Given the description of an element on the screen output the (x, y) to click on. 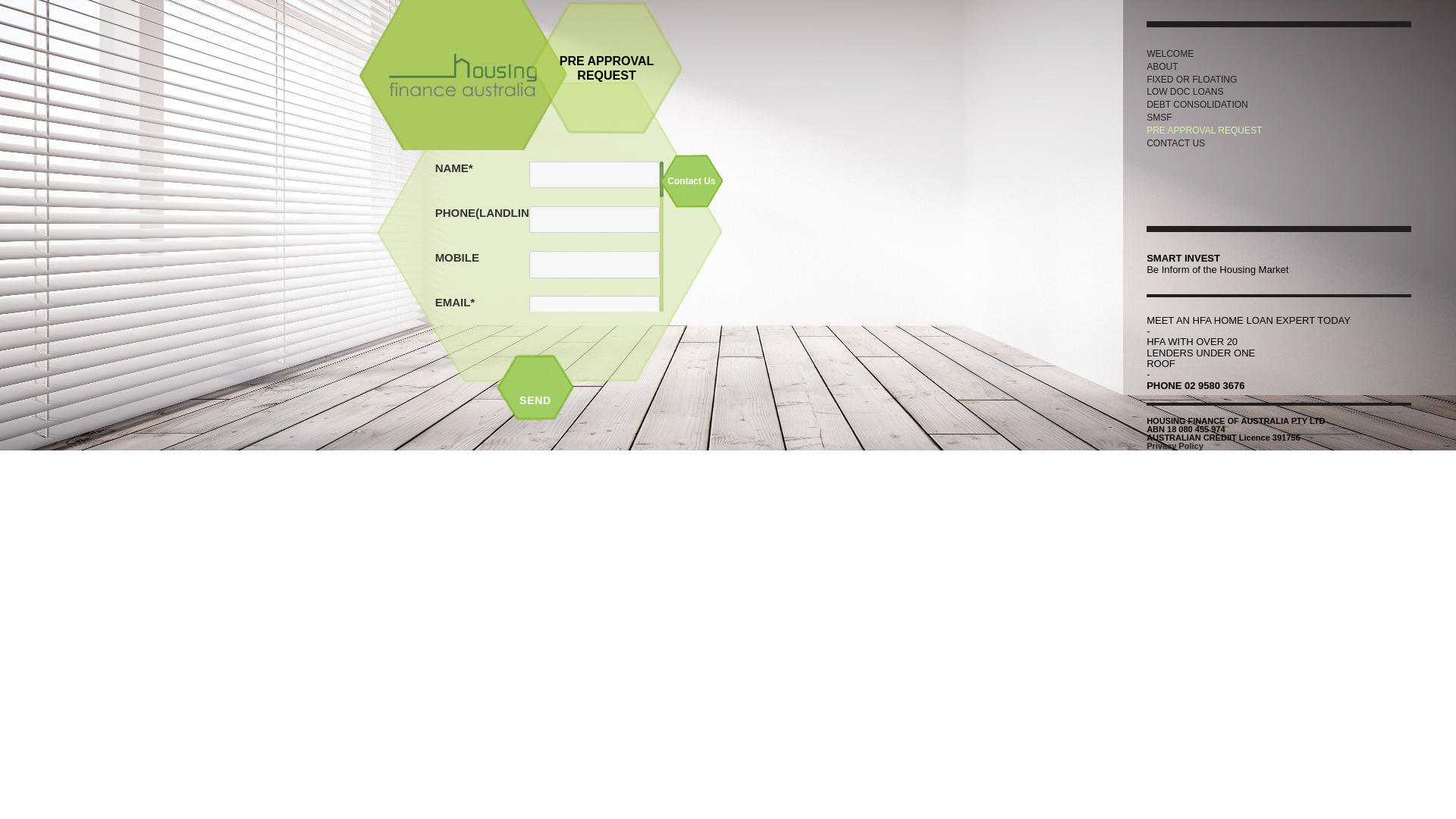
PRE APPROVAL REQUEST Element type: text (1278, 130)
Contact Us Element type: text (691, 180)
FIXED OR FLOATING Element type: text (1278, 79)
WELCOME Element type: text (1278, 53)
LOW DOC LOANS Element type: text (1278, 91)
Privacy Policy Element type: text (1174, 445)
SMSF Element type: text (1278, 117)
Send Element type: text (535, 399)
DEBT CONSOLIDATION Element type: text (1278, 104)
CONTACT US Element type: text (1278, 143)
ABOUT Element type: text (1278, 66)
